Given the description of an element on the screen output the (x, y) to click on. 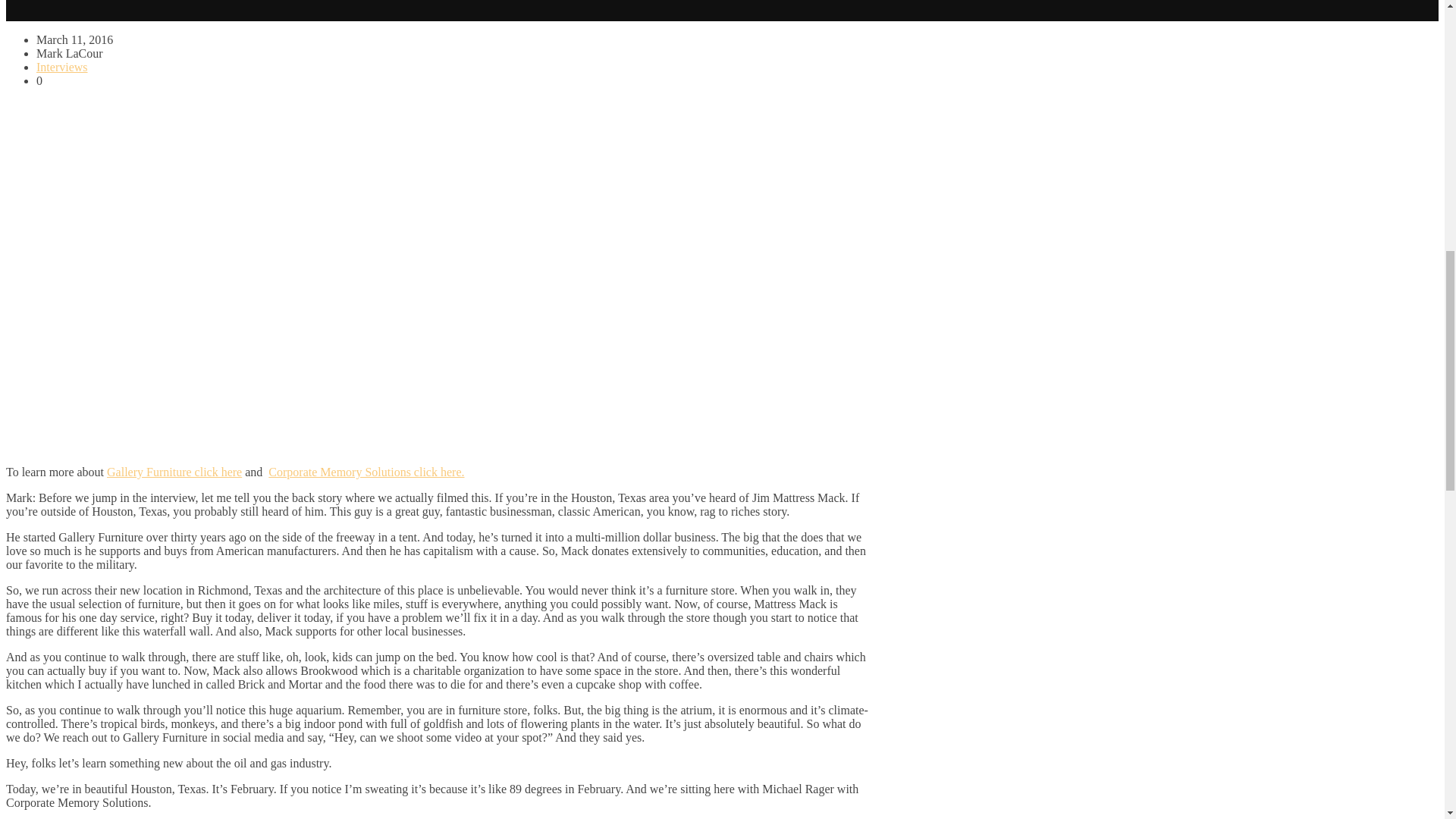
Interviews (61, 66)
Corporate Memory Solutions click here. (365, 472)
Gallery Furniture click here (173, 472)
